Given the description of an element on the screen output the (x, y) to click on. 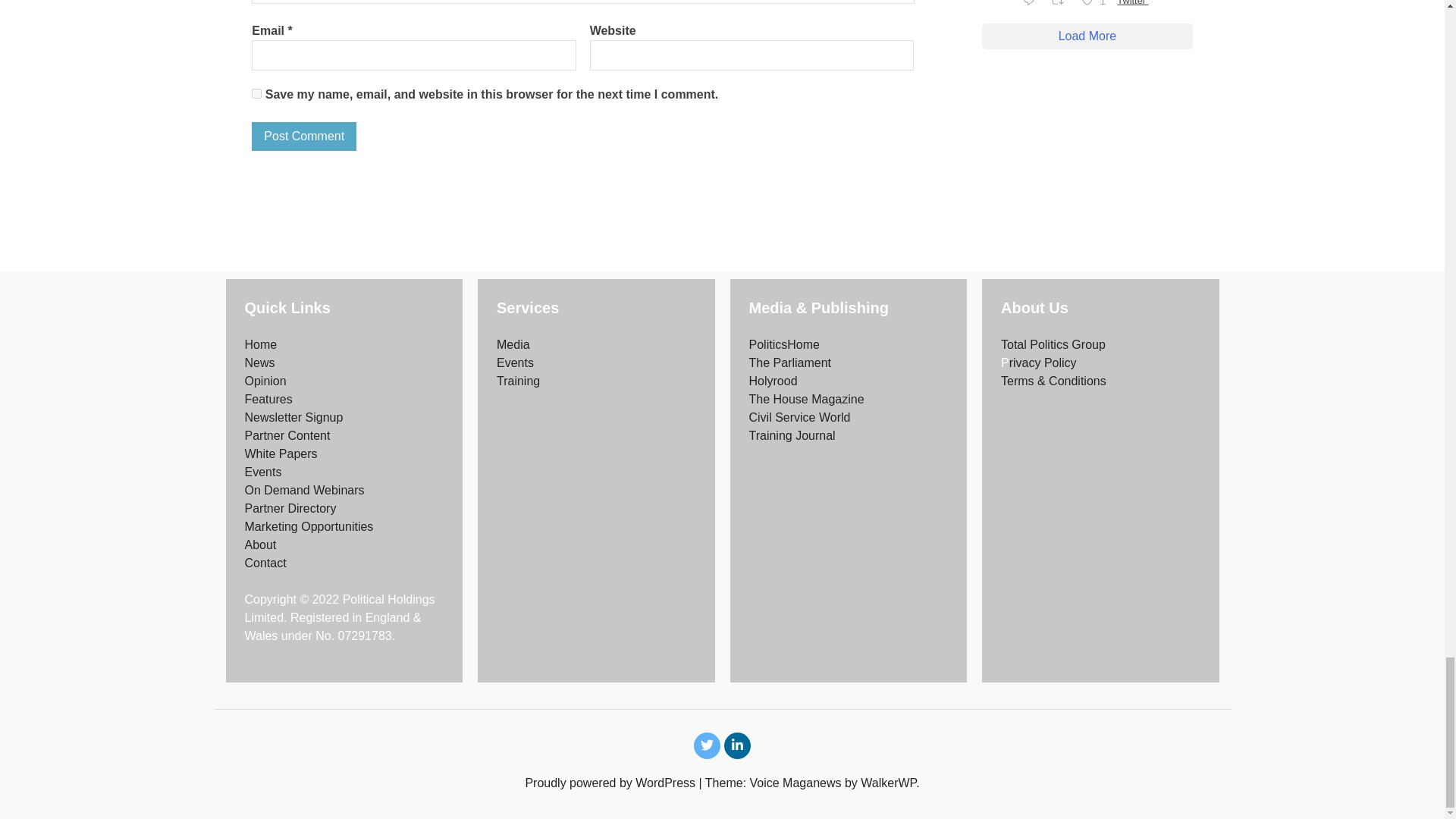
yes (256, 93)
Post Comment (303, 136)
